Given the description of an element on the screen output the (x, y) to click on. 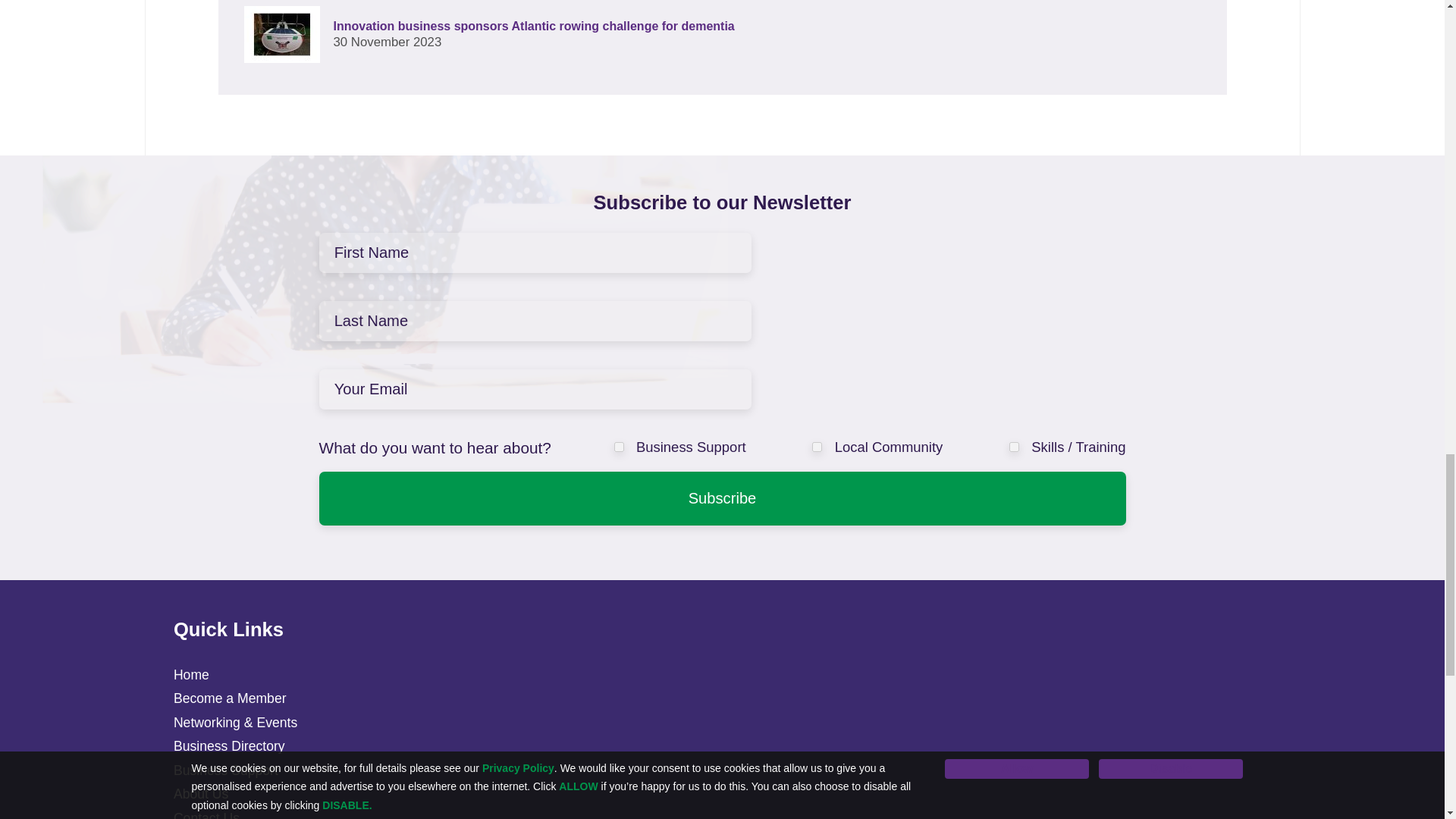
Subscribe (721, 498)
Business Support (619, 447)
Home (191, 674)
Local Community (817, 447)
Become a Member (229, 698)
Subscribe (721, 498)
